Given the description of an element on the screen output the (x, y) to click on. 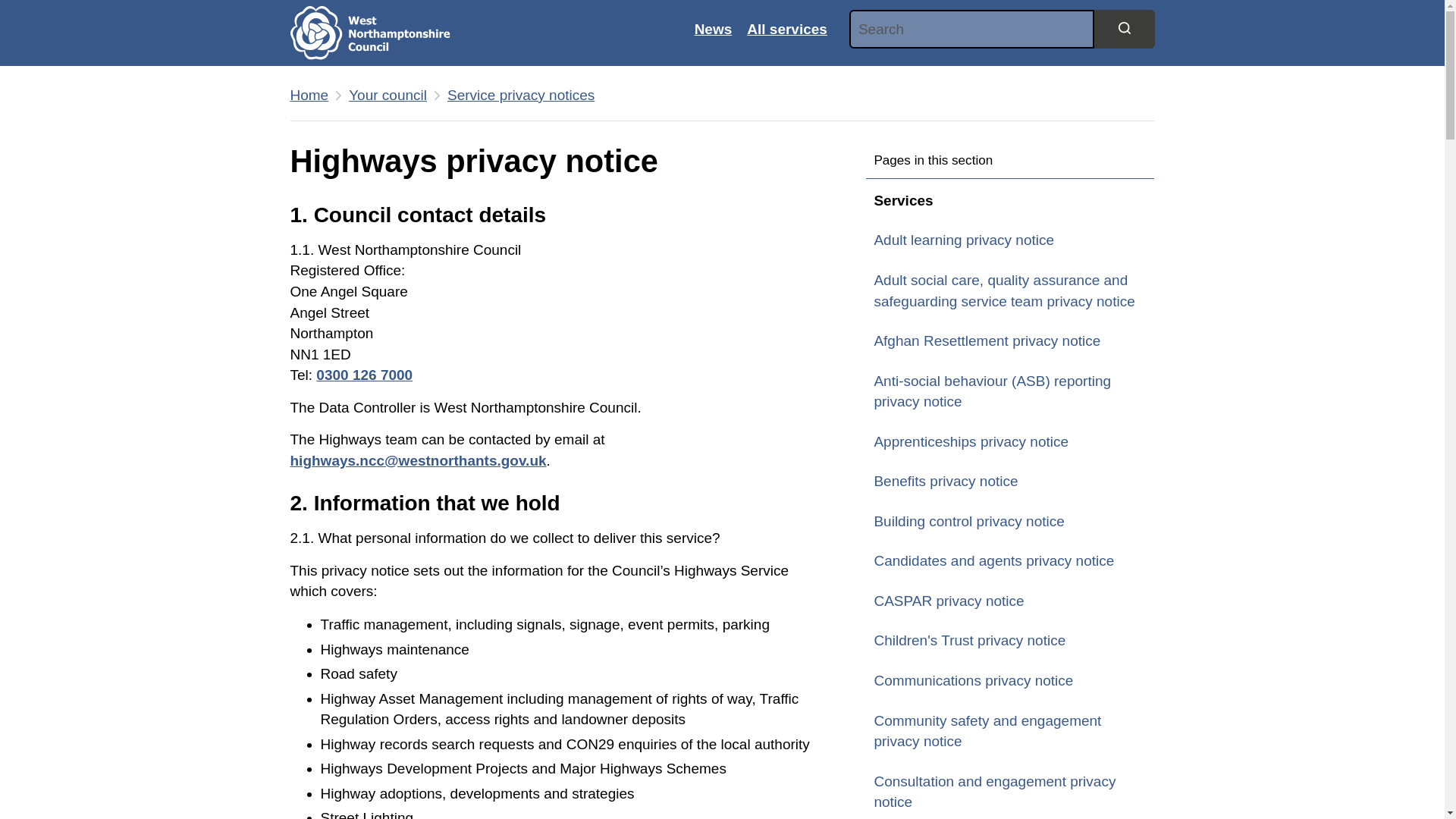
Your council (387, 94)
Home (380, 32)
Your council (387, 94)
CASPAR privacy notice (1010, 601)
Adult learning privacy notice (1010, 239)
Community safety and engagement privacy notice (1010, 731)
All services (786, 29)
Afghan Resettlement privacy notice (1010, 340)
Home (309, 94)
Children's Trust privacy notice (1010, 640)
Home (309, 94)
Building control privacy notice (1010, 521)
News (713, 29)
0300 126 7000 (363, 374)
